Given the description of an element on the screen output the (x, y) to click on. 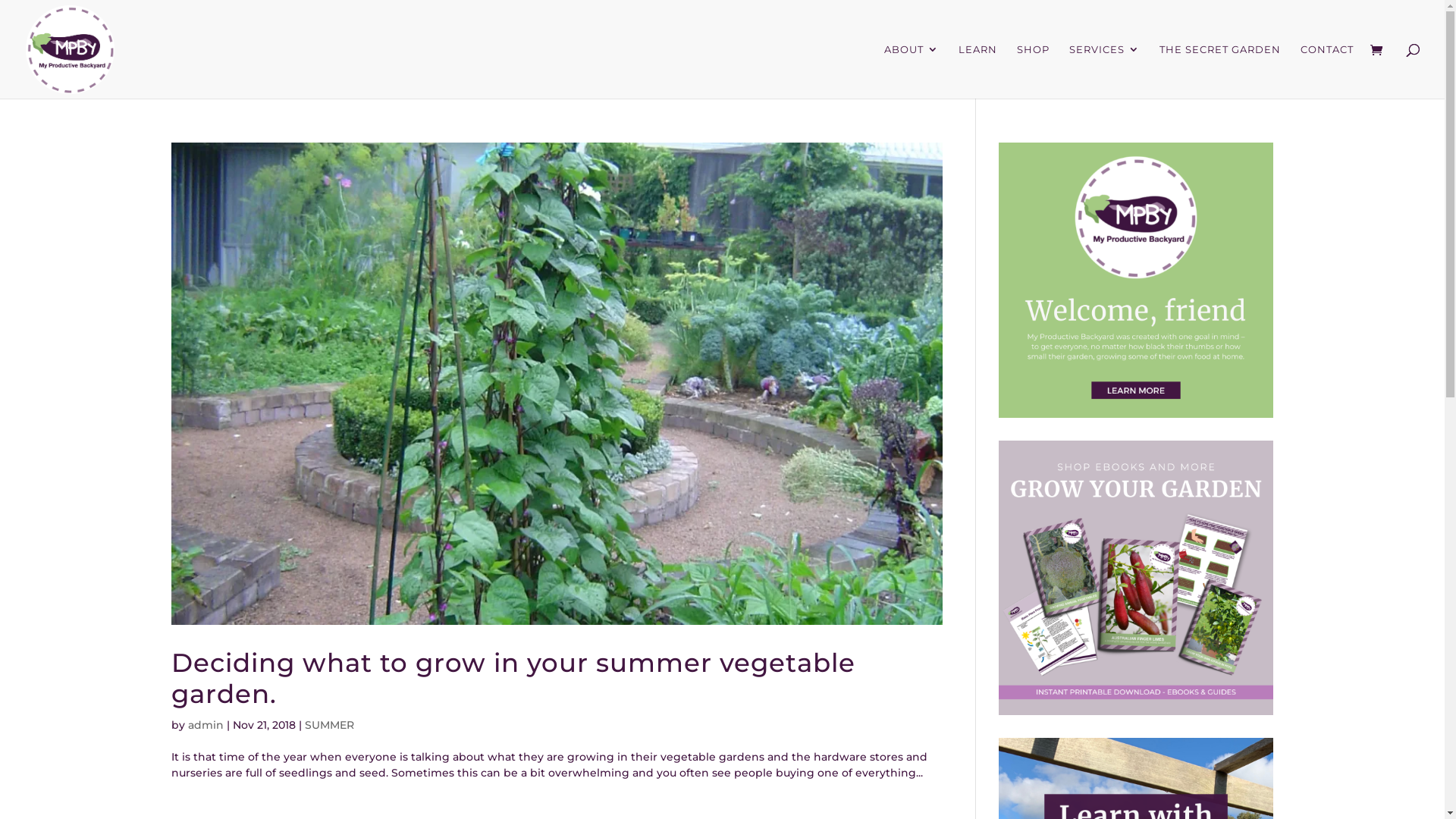
admin Element type: text (205, 724)
SHOP Element type: text (1032, 70)
THE SECRET GARDEN Element type: text (1219, 70)
SERVICES Element type: text (1104, 70)
Deciding what to grow in your summer vegetable garden. Element type: text (513, 677)
LEARN Element type: text (977, 70)
ABOUT Element type: text (911, 70)
SUMMER Element type: text (329, 724)
CONTACT Element type: text (1326, 70)
